Given the description of an element on the screen output the (x, y) to click on. 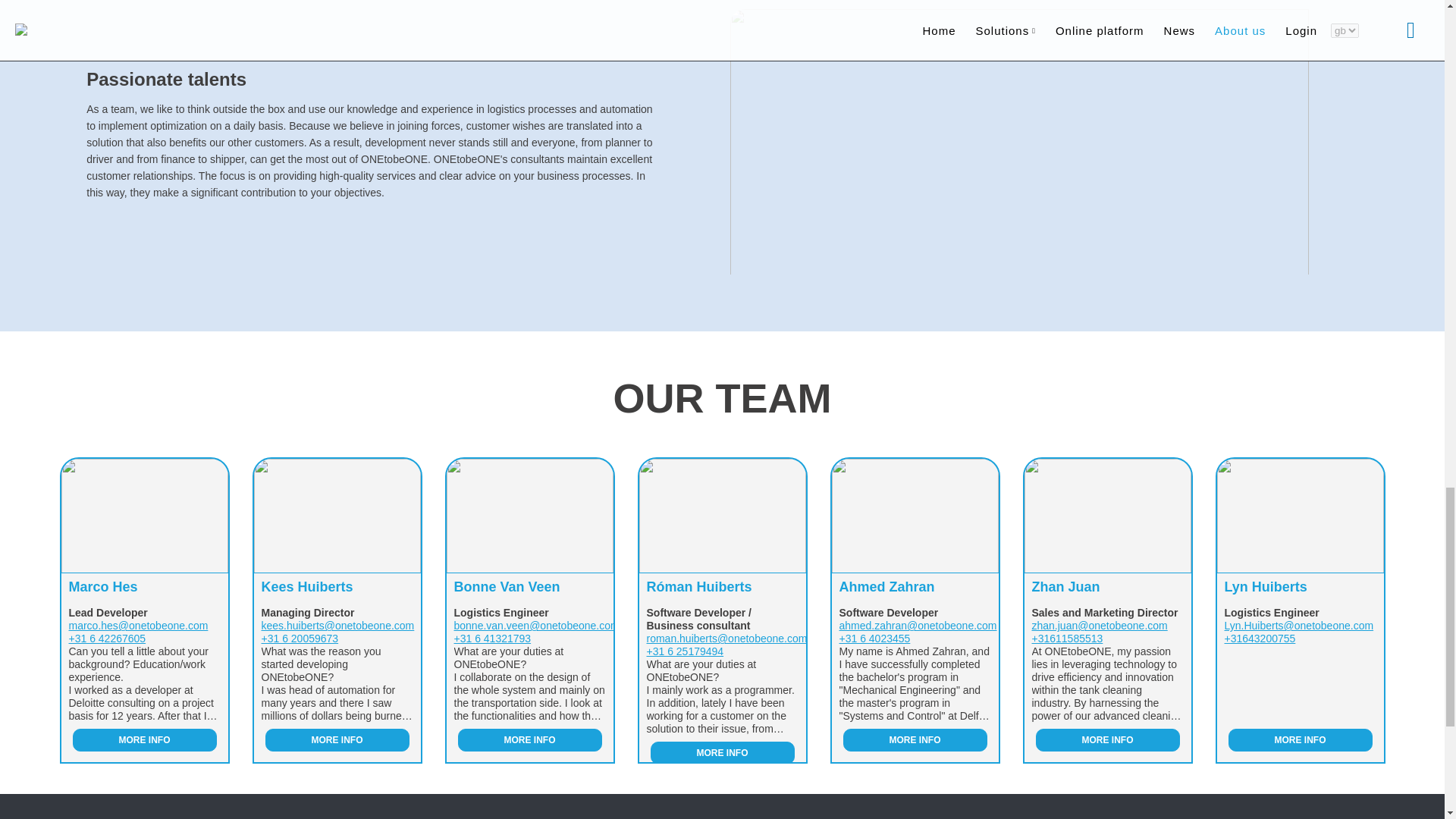
MORE INFO (722, 753)
MORE INFO (144, 739)
MORE INFO (1107, 739)
MORE INFO (915, 739)
MORE INFO (336, 739)
MORE INFO (530, 739)
